Given the description of an element on the screen output the (x, y) to click on. 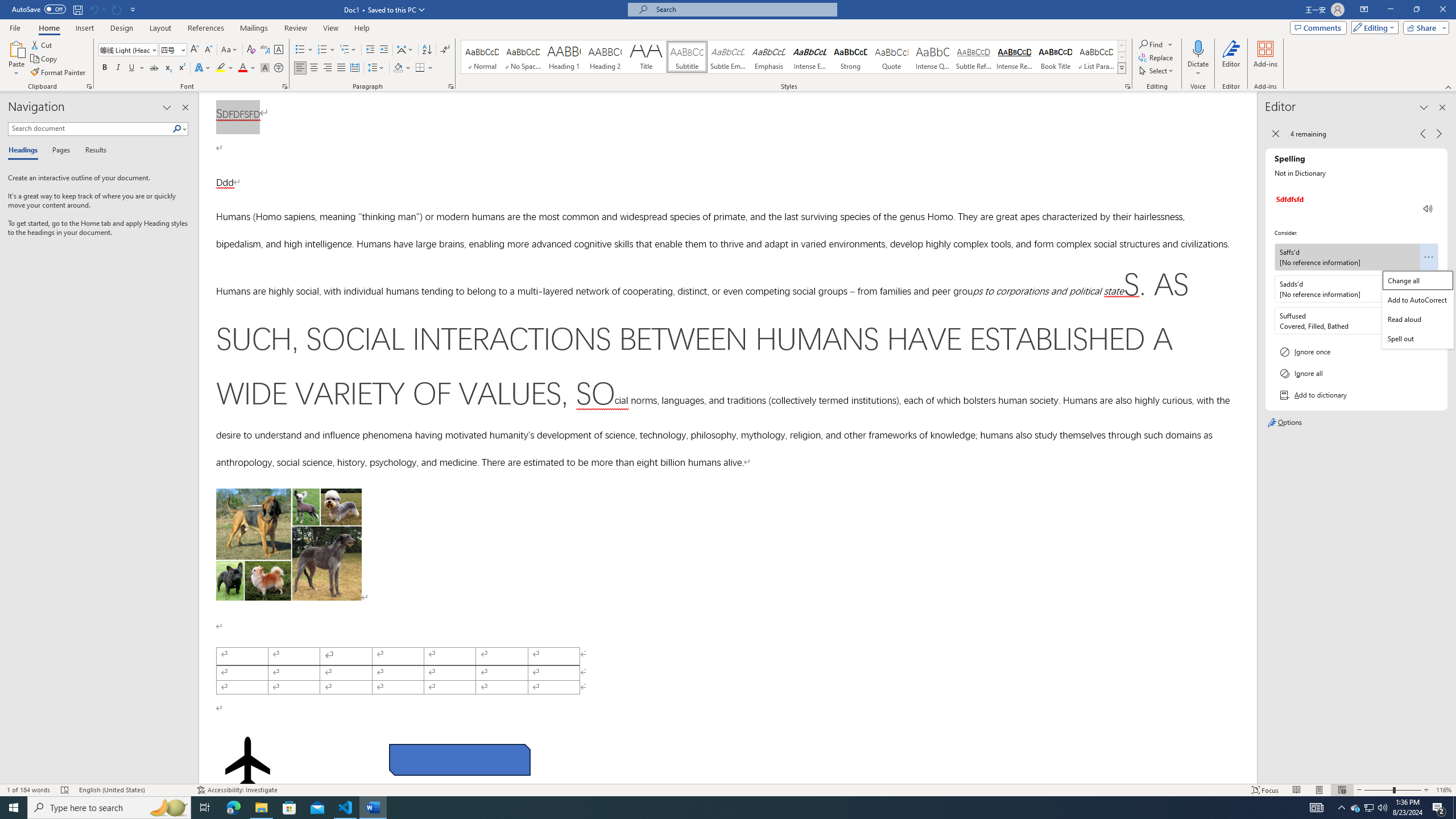
Intense Reference (1014, 56)
Subtle Emphasis (727, 56)
